Given the description of an element on the screen output the (x, y) to click on. 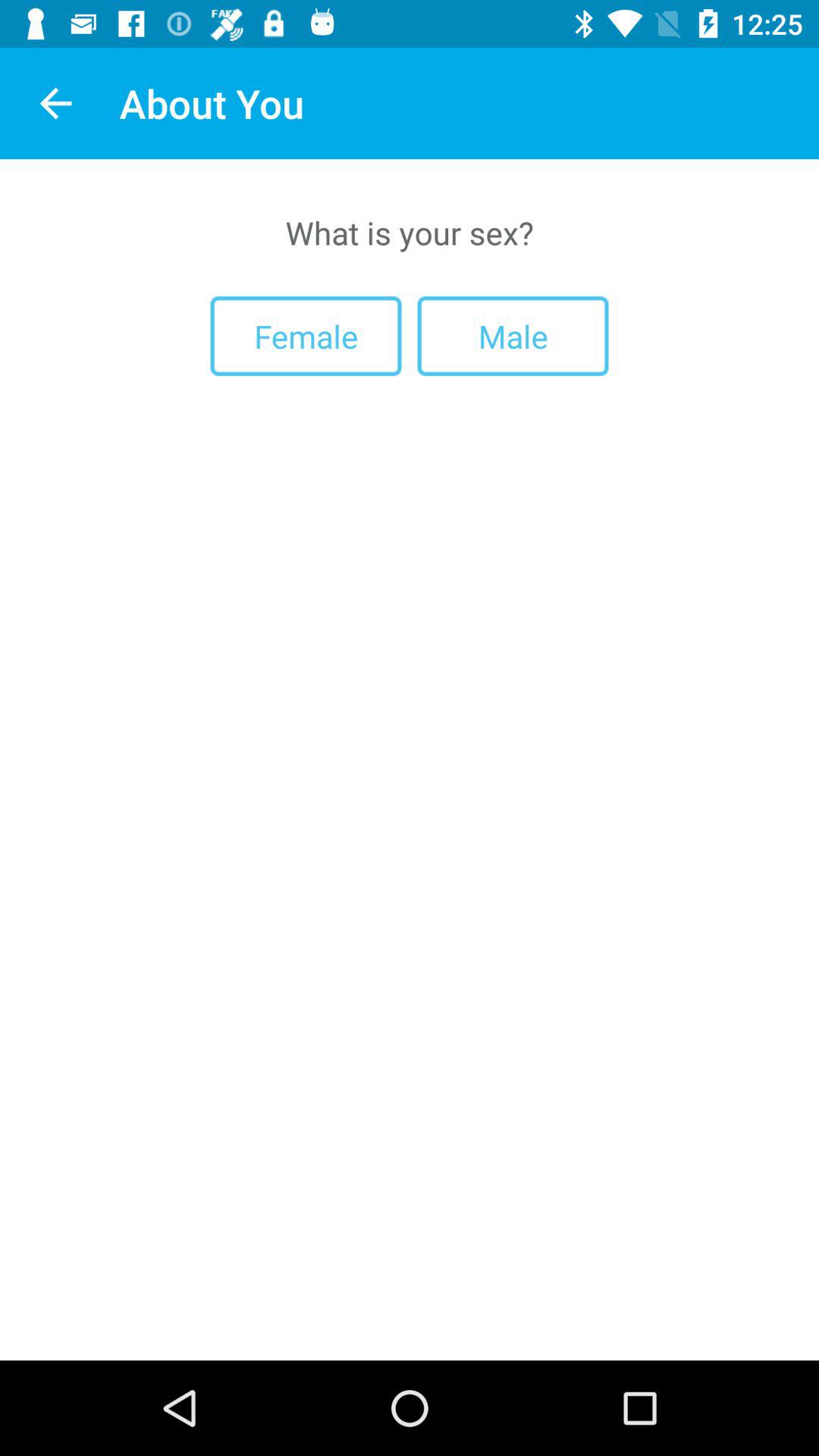
open the icon next to the about you (55, 103)
